Given the description of an element on the screen output the (x, y) to click on. 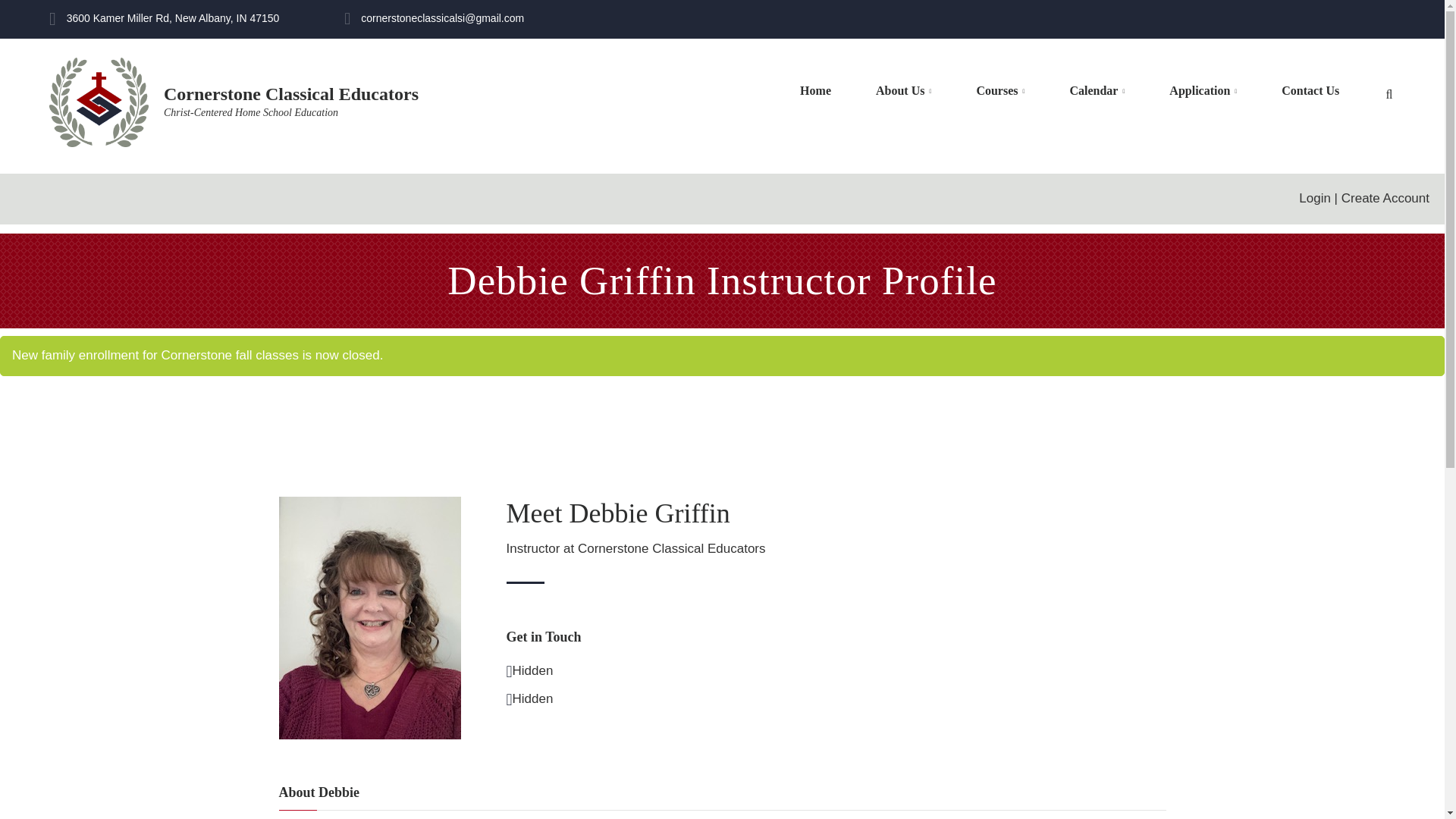
Login (1314, 197)
Contact Us (1310, 90)
Application (1202, 90)
About Us (903, 90)
Debbie Griffin (370, 617)
Create Account (1384, 197)
Courses (1000, 90)
Home (1069, 90)
3600 Kamer Miller Rd, New Albany, IN 47150 (815, 90)
Calendar (164, 19)
